Given the description of an element on the screen output the (x, y) to click on. 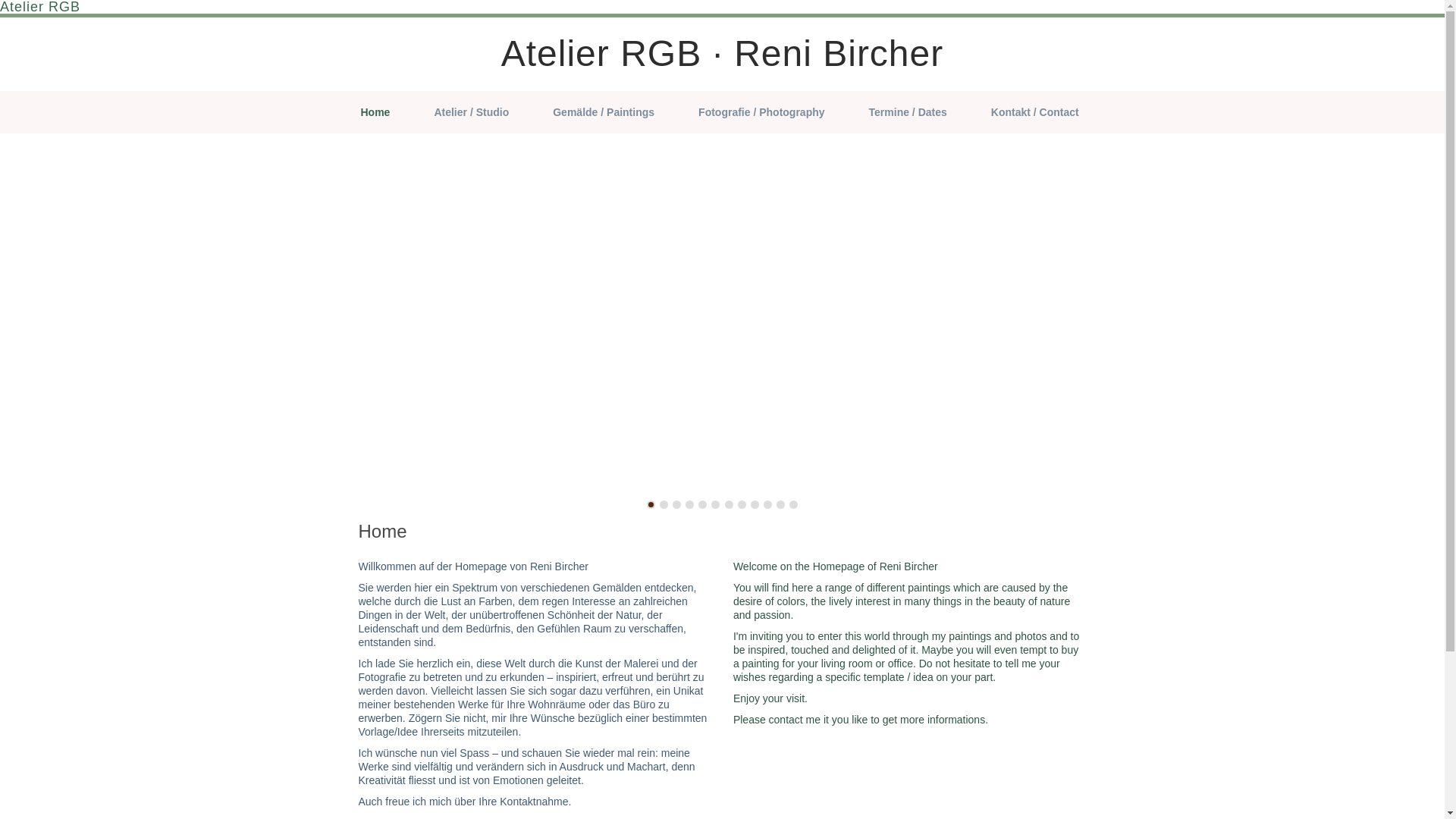
Fotografie / Photography Element type: text (761, 112)
Termine / Dates Element type: text (907, 112)
Kontakt / Contact Element type: text (1034, 112)
Atelier / Studio Element type: text (471, 112)
Home Element type: text (375, 112)
